Given the description of an element on the screen output the (x, y) to click on. 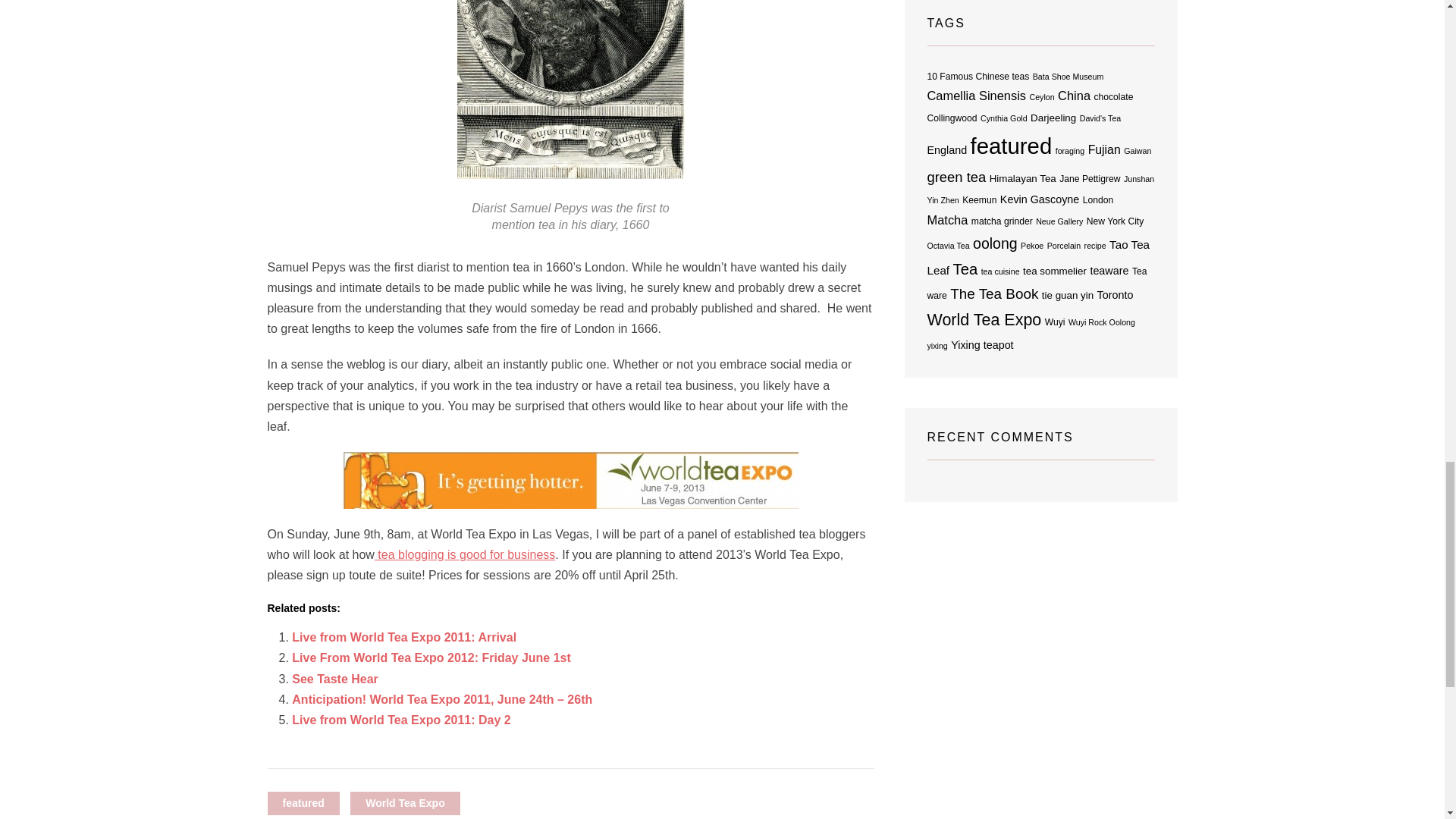
See Taste  Hear (335, 678)
Live from World Tea Expo 2011: Day 2 (401, 719)
Live from World Tea Expo 2011: Arrival (404, 636)
Live From World Tea Expo 2012: Friday June 1st (431, 657)
WTE-logo (569, 480)
